Given the description of an element on the screen output the (x, y) to click on. 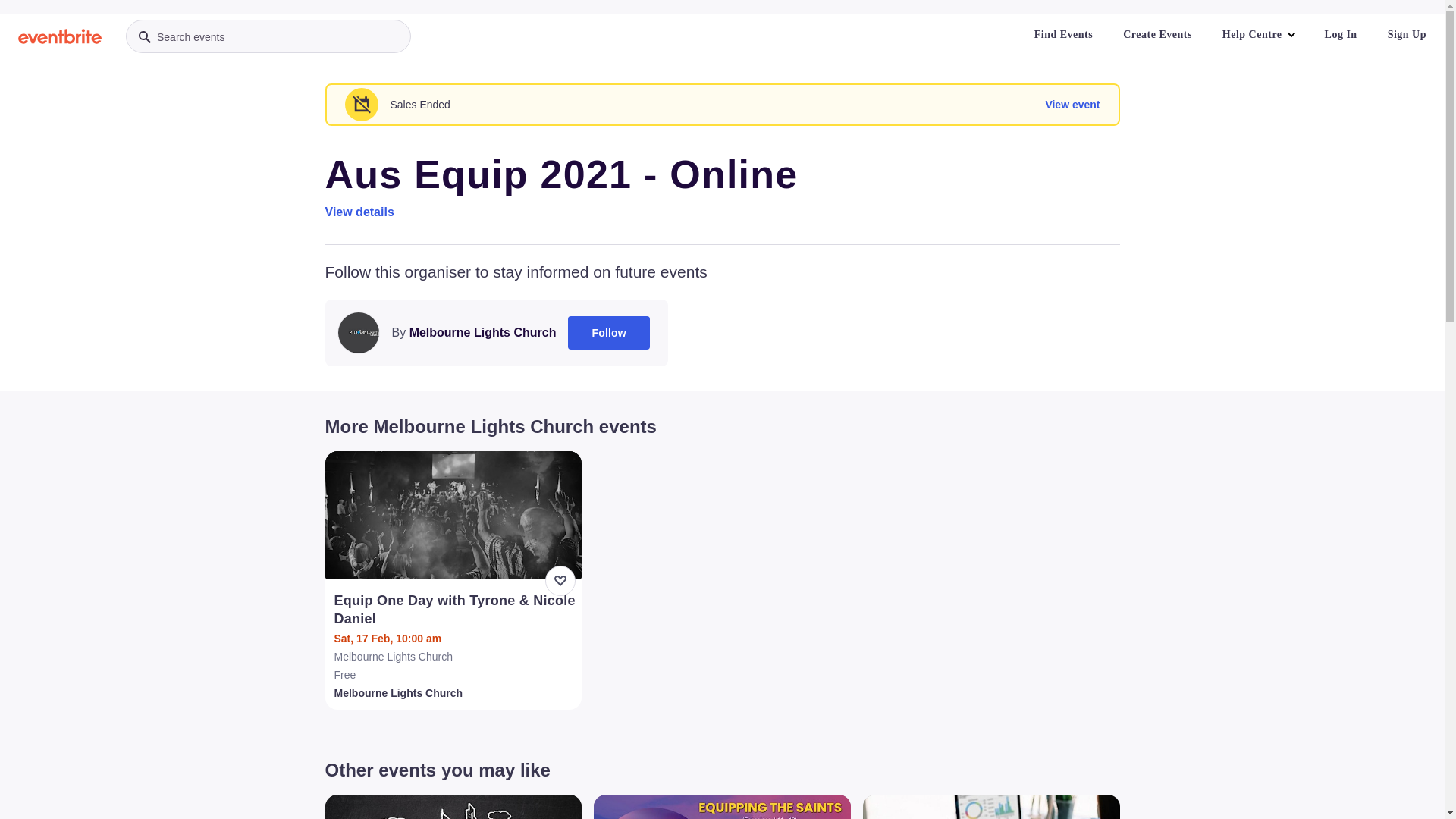
Create Events Element type: text (1157, 34)
Find Events Element type: text (1063, 34)
Follow Element type: text (608, 332)
View event Element type: text (1071, 104)
View details Element type: text (358, 211)
Eventbrite Element type: hover (59, 35)
Log In Element type: text (1340, 34)
Sign Up Element type: text (1406, 34)
Search events Element type: text (268, 36)
Equip One Day with Tyrone & Nicole Daniel Element type: text (454, 609)
